Given the description of an element on the screen output the (x, y) to click on. 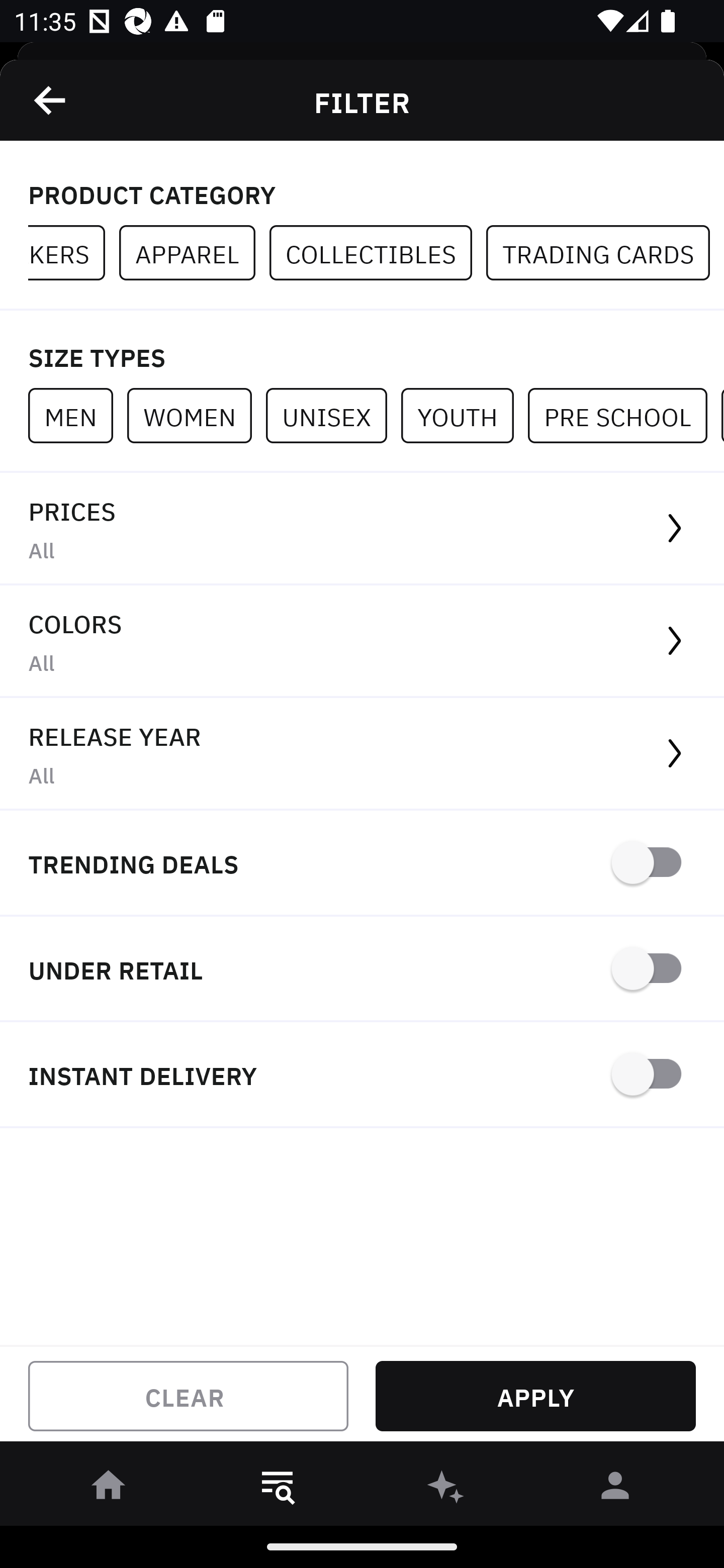
 (50, 100)
SNEAKERS (73, 252)
APPAREL (194, 252)
COLLECTIBLES (377, 252)
TRADING CARDS (605, 252)
MEN (77, 415)
WOMEN (196, 415)
UNISEX (333, 415)
YOUTH (464, 415)
PRE SCHOOL (624, 415)
PRICES All (362, 528)
COLORS All (362, 640)
RELEASE YEAR All (362, 753)
TRENDING DEALS (362, 863)
UNDER RETAIL (362, 969)
INSTANT DELIVERY (362, 1075)
CLEAR  (188, 1396)
APPLY (535, 1396)
󰋜 (108, 1488)
󱎸 (277, 1488)
󰫢 (446, 1488)
󰀄 (615, 1488)
